Given the description of an element on the screen output the (x, y) to click on. 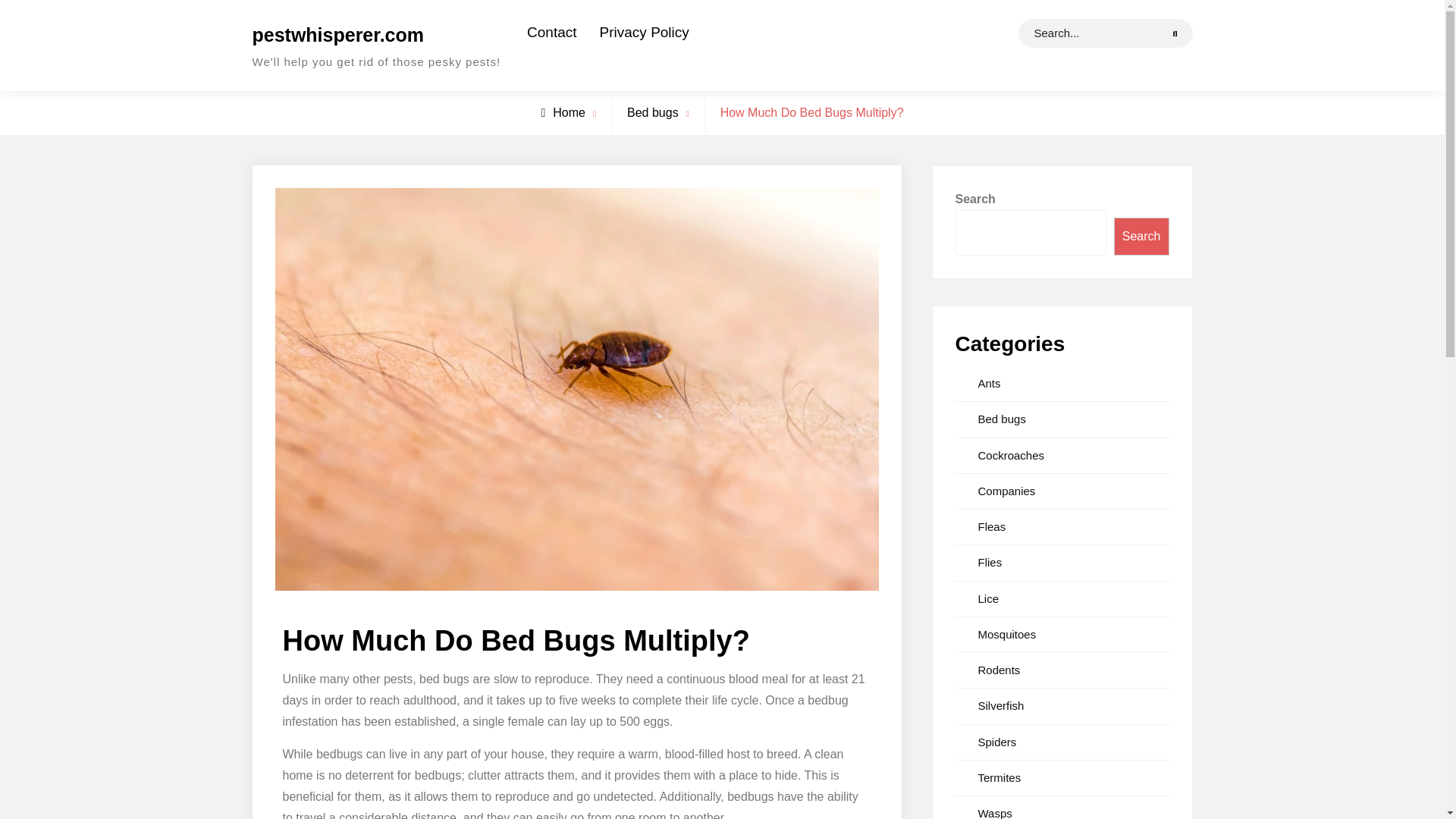
Flies (990, 562)
Fleas (992, 526)
Bed bugs (652, 112)
Termites (1000, 777)
Privacy Policy (644, 31)
Cockroaches (1011, 454)
Silverfish (1001, 705)
Mosquitoes (1007, 634)
Spiders (997, 741)
Home (562, 112)
